Given the description of an element on the screen output the (x, y) to click on. 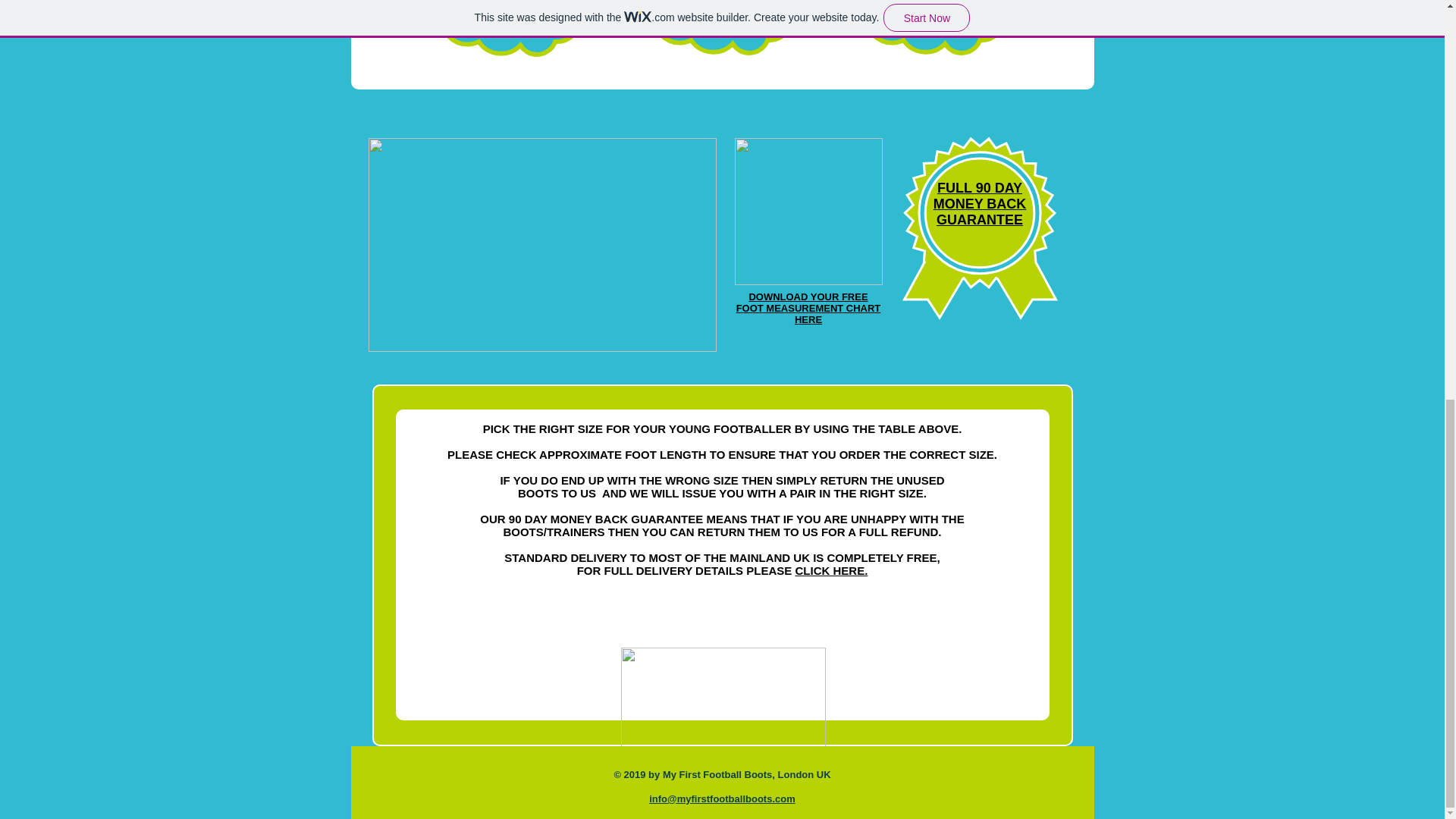
MONEY BACK GUARANTEE (979, 211)
DOWNLOAD YOUR FREE FOOT MEASUREMENT CHART HERE (808, 308)
CLICK HERE. (830, 570)
FULL 90 DAY (979, 187)
